Given the description of an element on the screen output the (x, y) to click on. 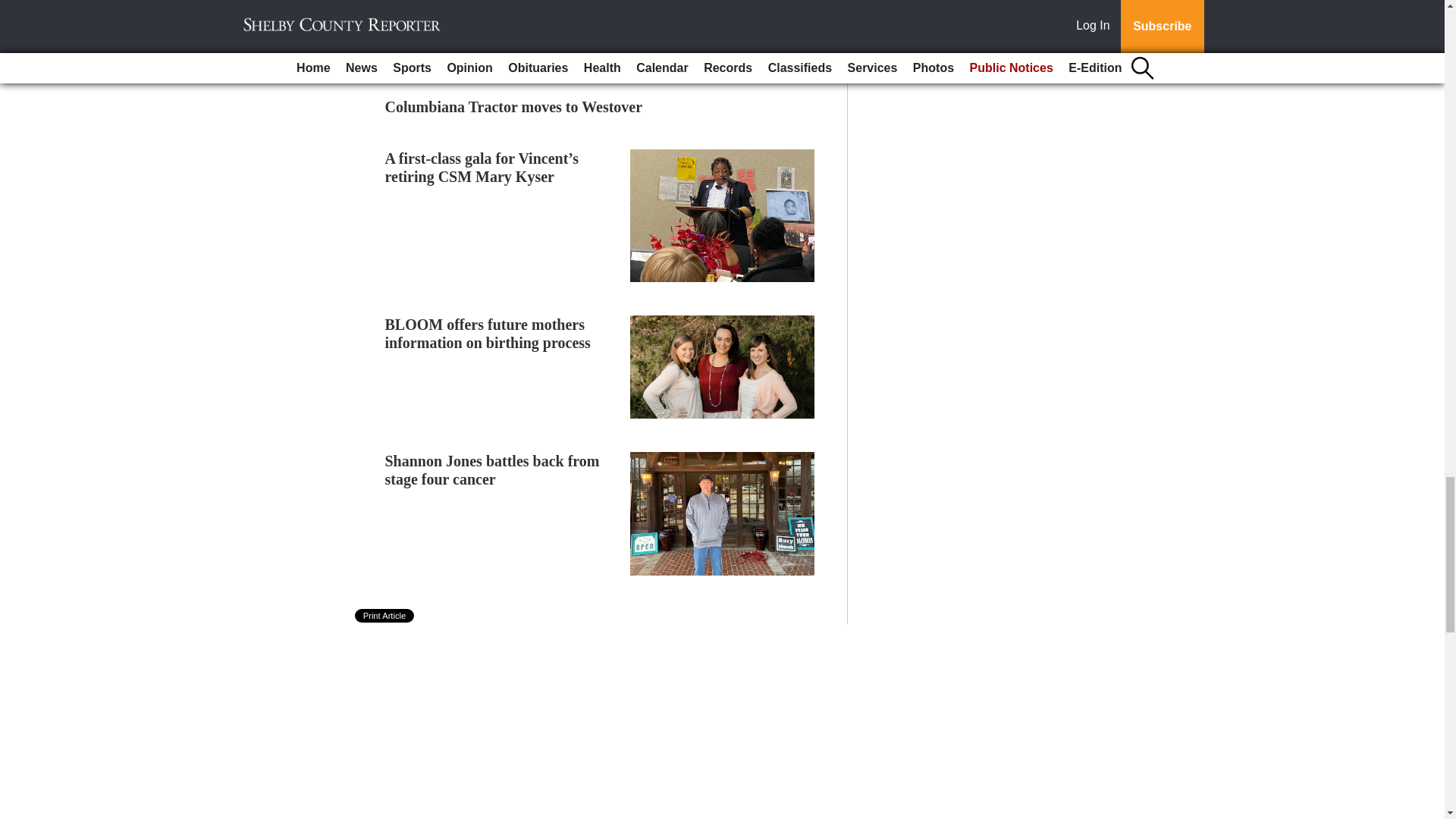
Columbiana Tractor moves to Westover (514, 106)
BLOOM offers future mothers information on birthing process (488, 332)
Shannon Jones battles back from stage four cancer (492, 469)
